Given the description of an element on the screen output the (x, y) to click on. 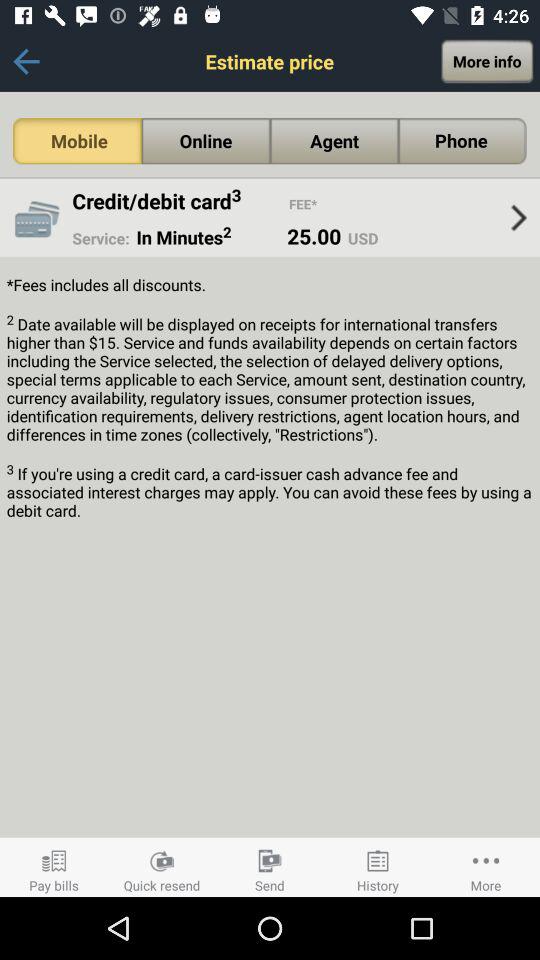
turn on icon above fees includes all app (201, 237)
